Given the description of an element on the screen output the (x, y) to click on. 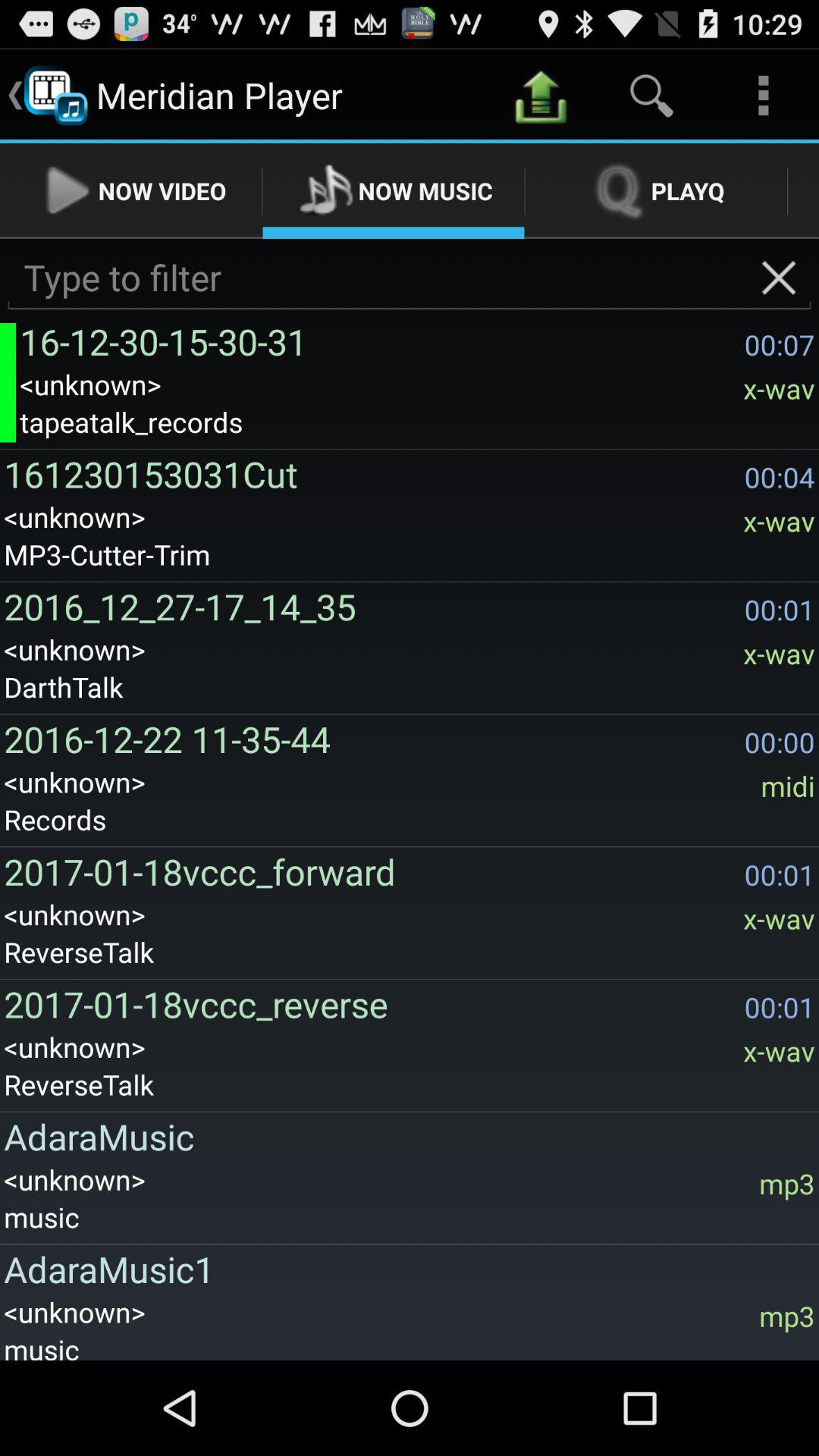
launch 161230153031cut app (369, 473)
